Given the description of an element on the screen output the (x, y) to click on. 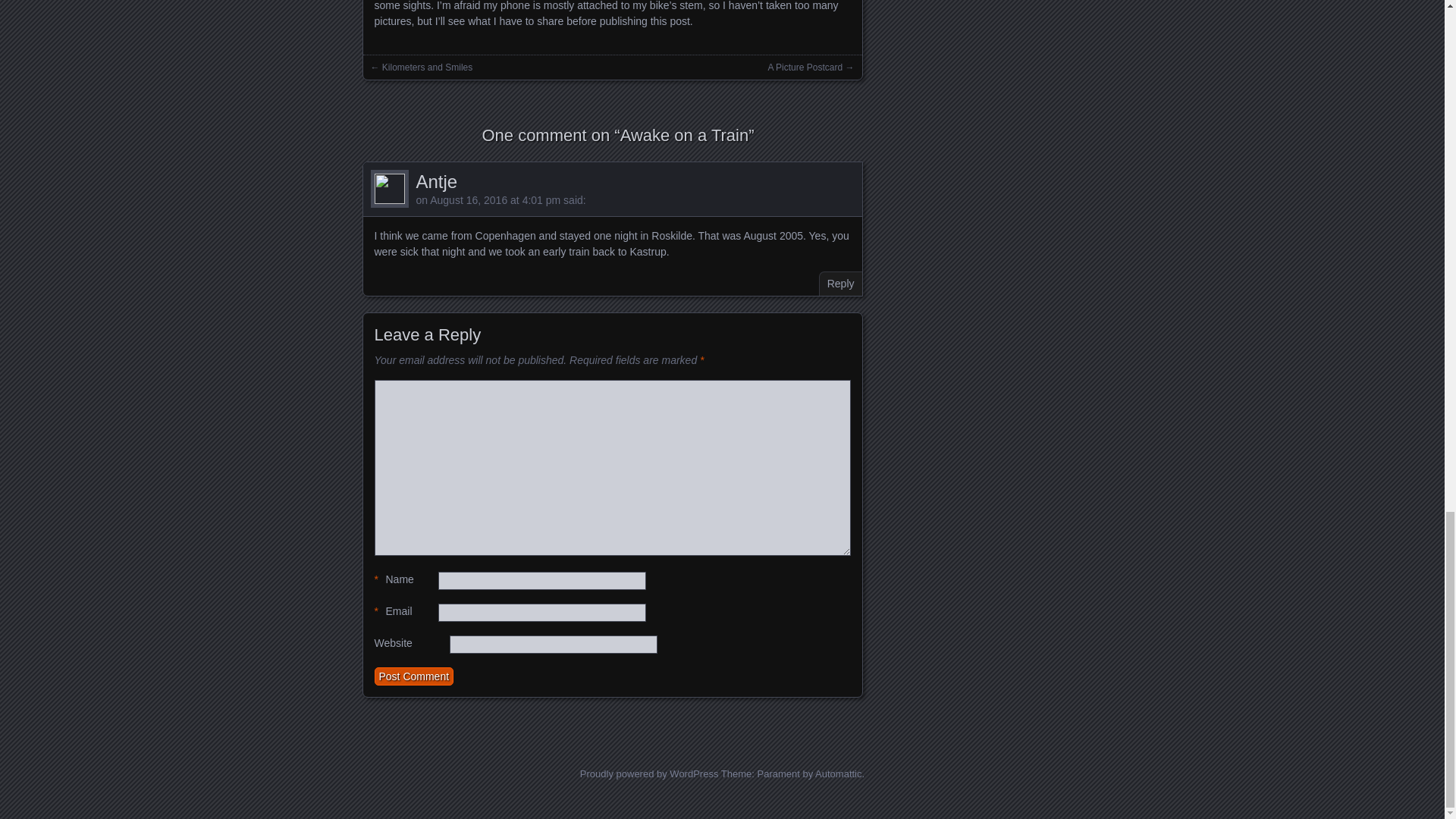
Reply (839, 283)
Post Comment (414, 676)
Post Comment (414, 676)
Kilometers and Smiles (426, 67)
A Picture Postcard (805, 67)
August 16, 2016 at 4:01 pm (494, 200)
